Given the description of an element on the screen output the (x, y) to click on. 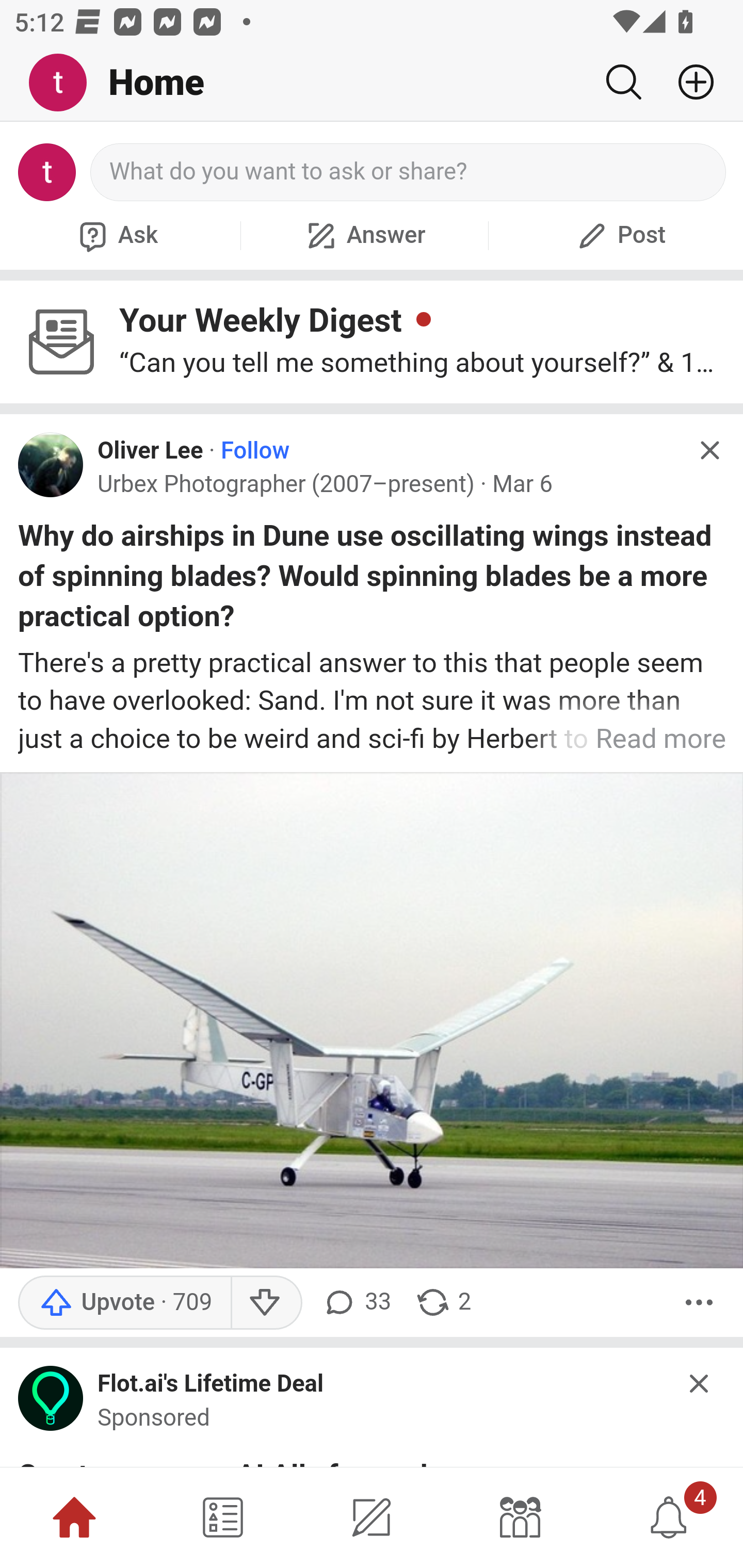
Me Home Search Add (371, 82)
Me (64, 83)
Search (623, 82)
Add (688, 82)
4 (668, 1517)
